Given the description of an element on the screen output the (x, y) to click on. 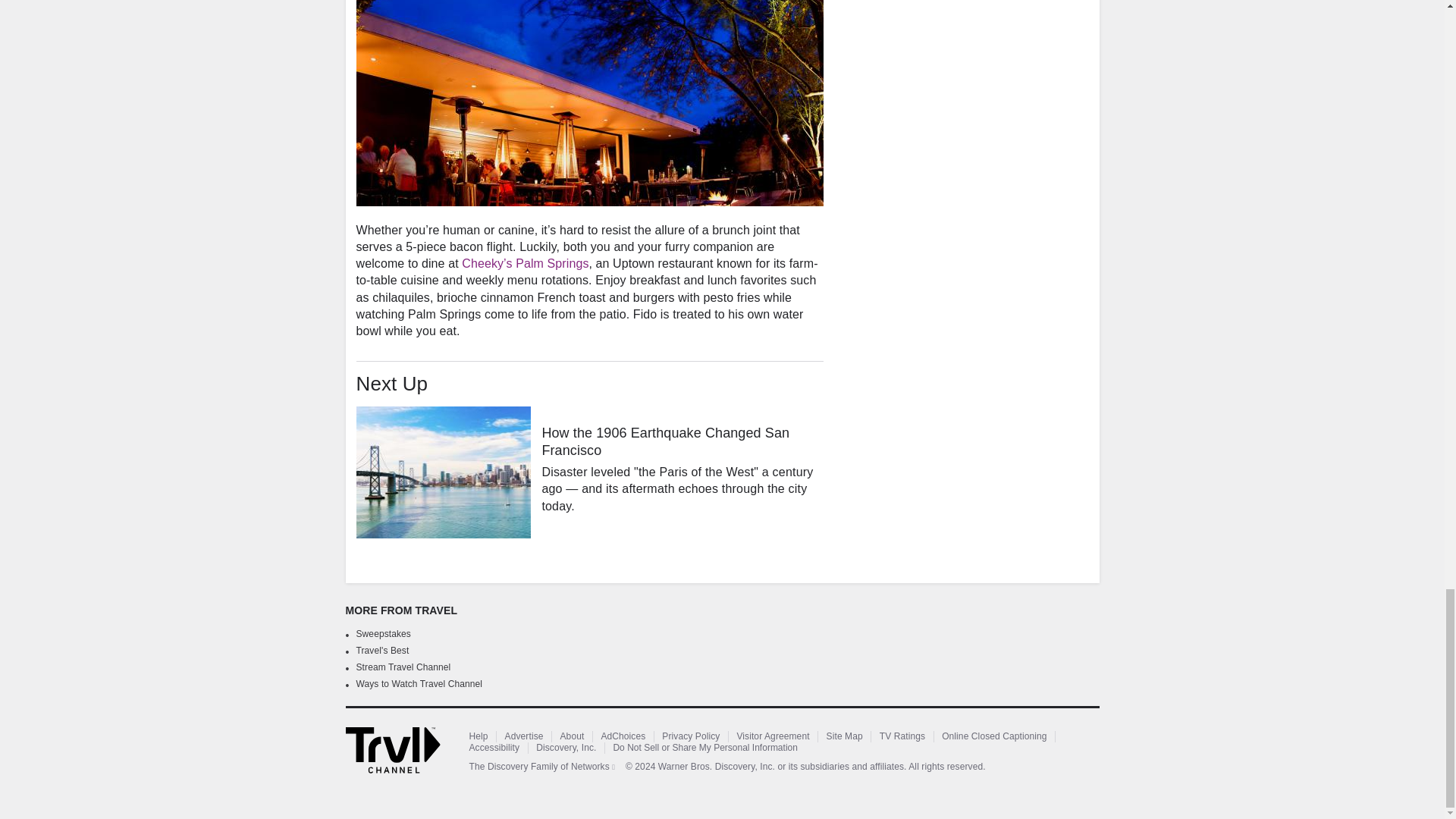
How the 1906 Earthquake Changed San Francisco (443, 472)
